Given the description of an element on the screen output the (x, y) to click on. 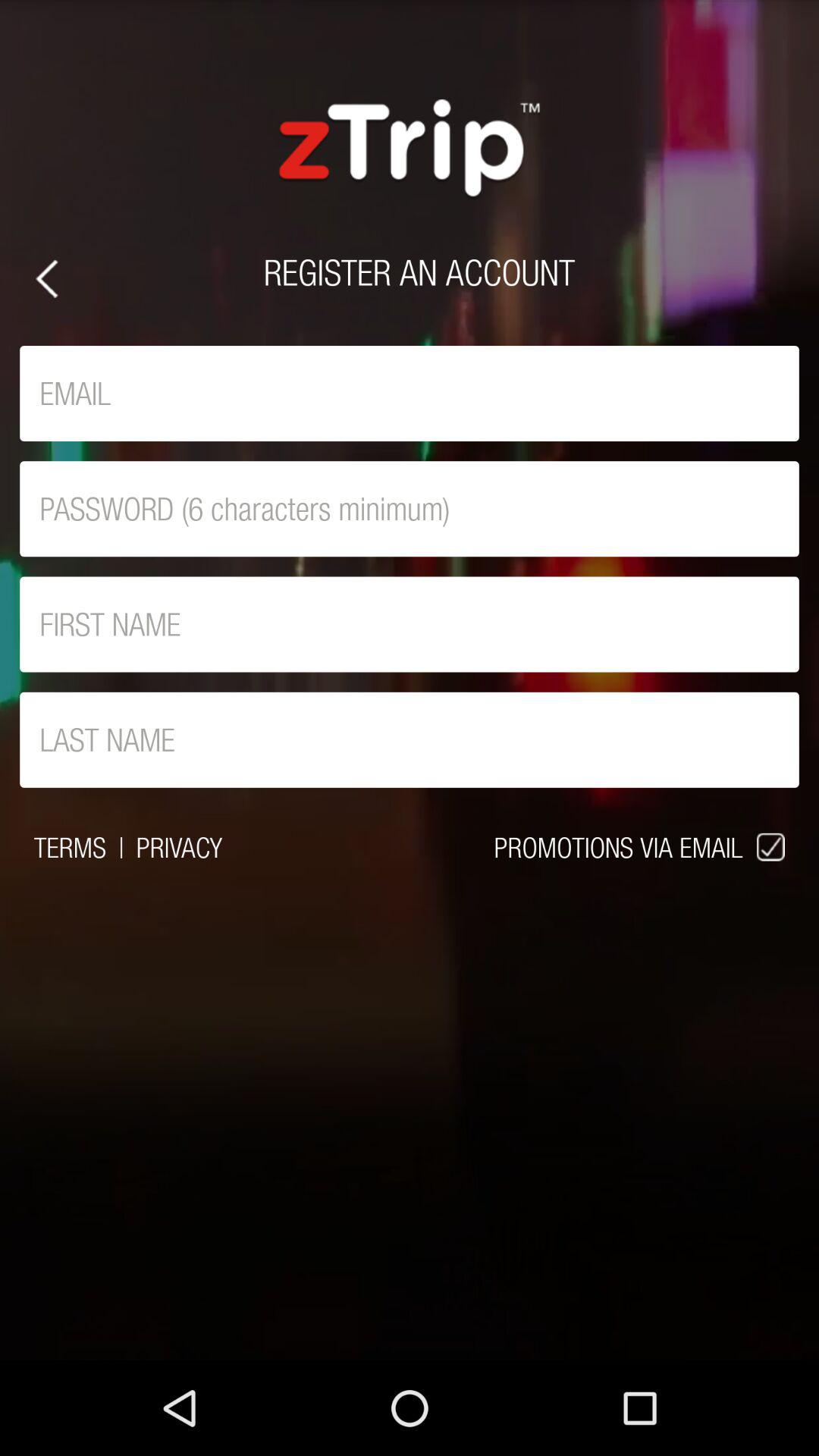
launch icon at the top left corner (46, 278)
